Given the description of an element on the screen output the (x, y) to click on. 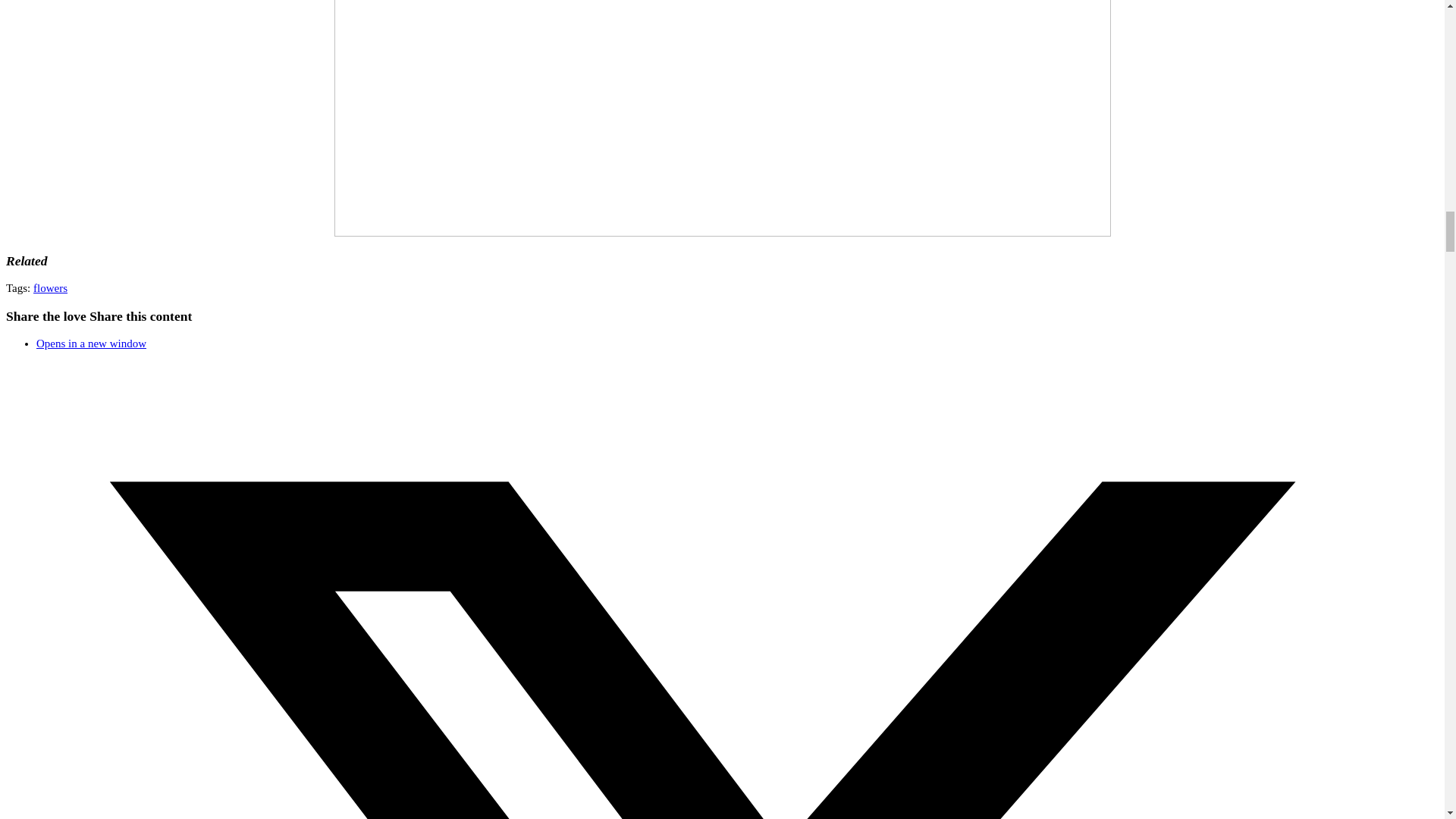
flowers (49, 287)
